Given the description of an element on the screen output the (x, y) to click on. 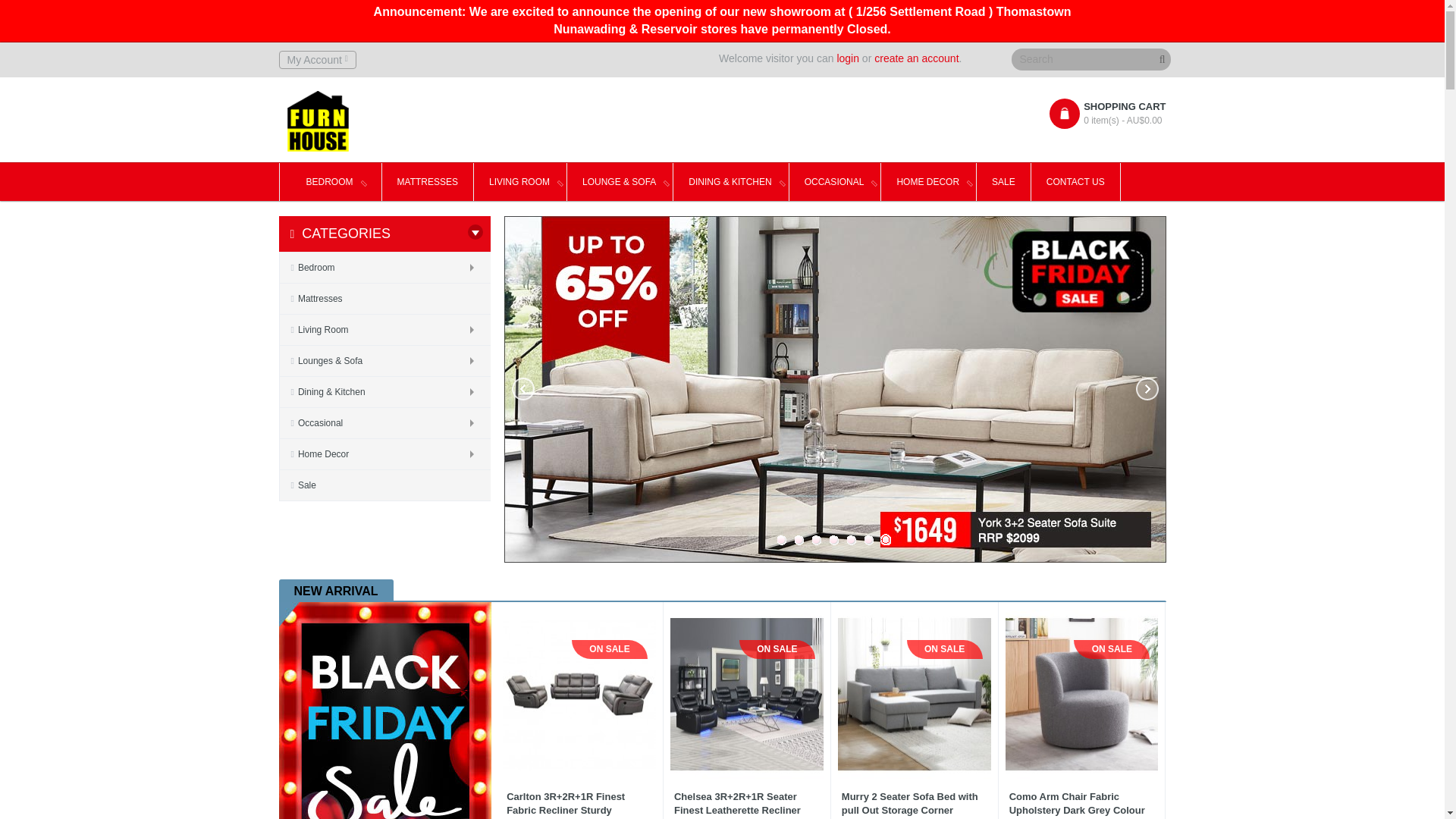
LIVING ROOM Element type: text (520, 181)
Mattresses Element type: text (384, 298)
CONTACT US Element type: text (1075, 181)
SALE Element type: text (1003, 181)
Lounges & Sofa Element type: text (384, 360)
OCCASIONAL Element type: text (835, 181)
Sale Element type: text (384, 485)
login Element type: text (847, 58)
Living Room Element type: text (384, 329)
Bedroom Element type: text (384, 267)
MATTRESSES Element type: text (427, 181)
Occasional Element type: text (384, 422)
0 item(s) - AU$0.00 Element type: text (1116, 120)
LOUNGE & SOFA Element type: text (620, 181)
Furn House Element type: hover (317, 121)
Dining & Kitchen Element type: text (384, 391)
Home Decor Element type: text (384, 454)
HOME DECOR Element type: text (928, 181)
BEDROOM Element type: text (330, 181)
My Account Element type: text (317, 59)
create an account Element type: text (916, 58)
DINING & KITCHEN Element type: text (730, 181)
